Given the description of an element on the screen output the (x, y) to click on. 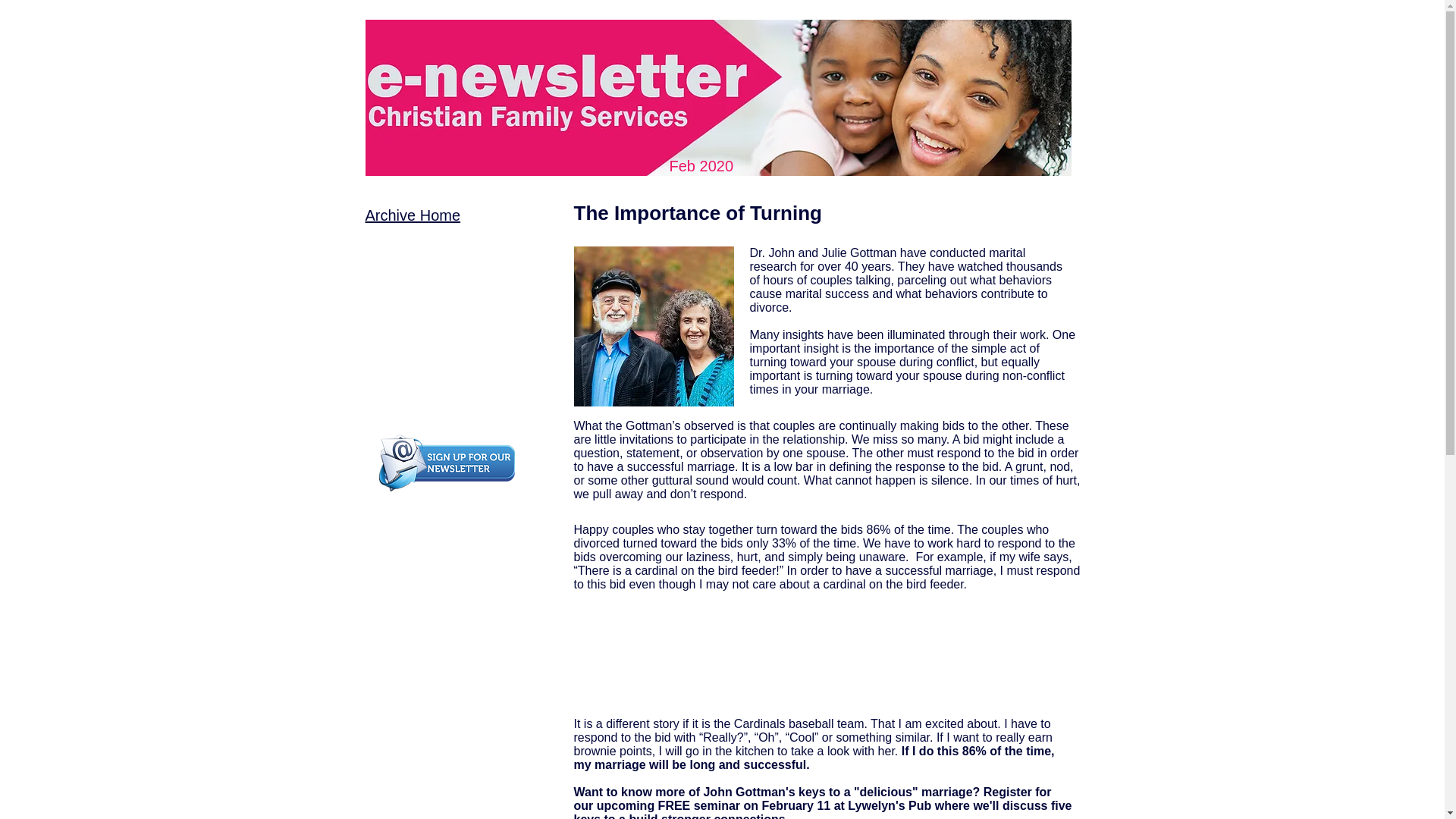
Archive Home (413, 215)
